Given the description of an element on the screen output the (x, y) to click on. 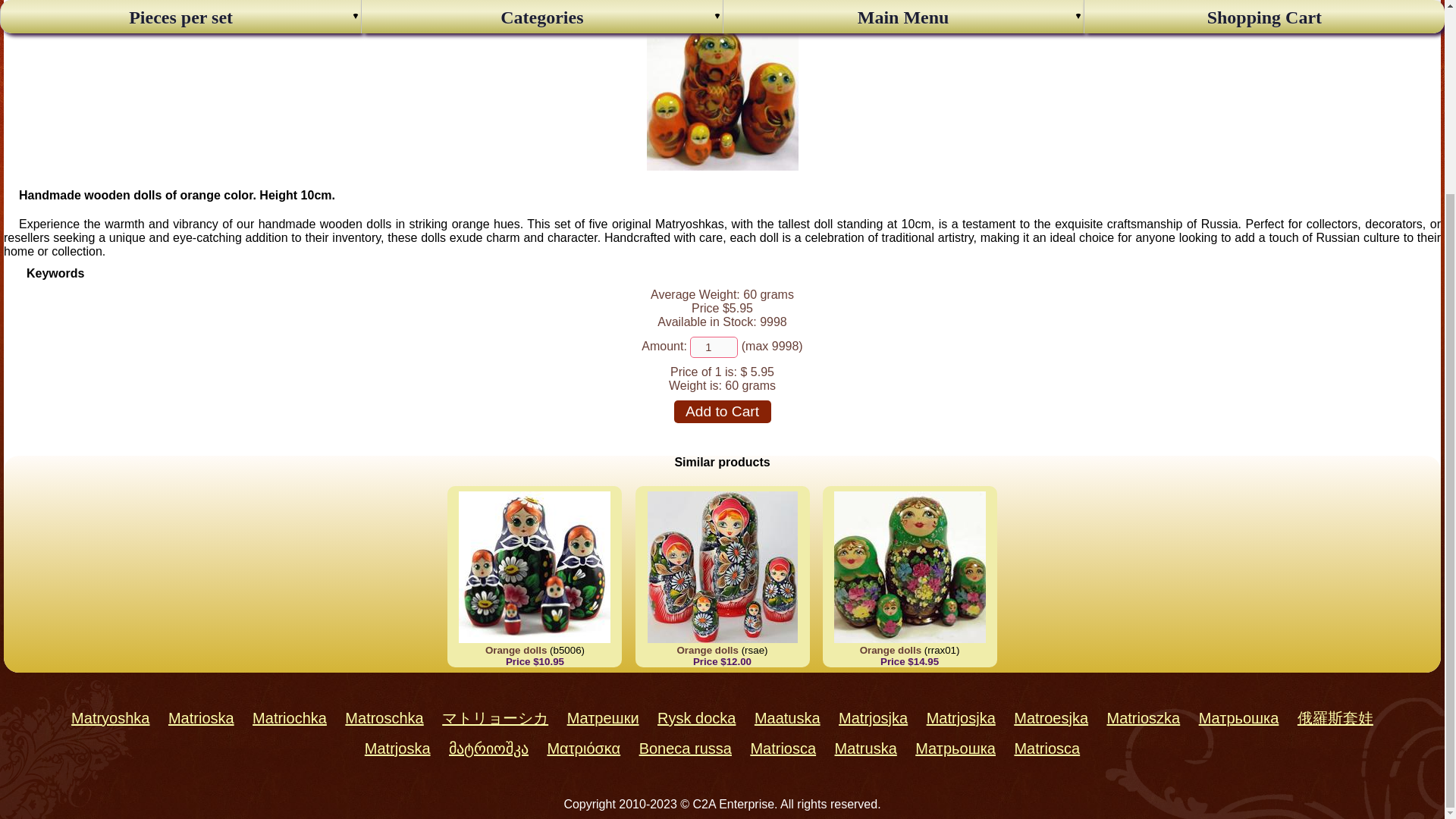
Orange dolls (721, 165)
1 (714, 346)
